Given the description of an element on the screen output the (x, y) to click on. 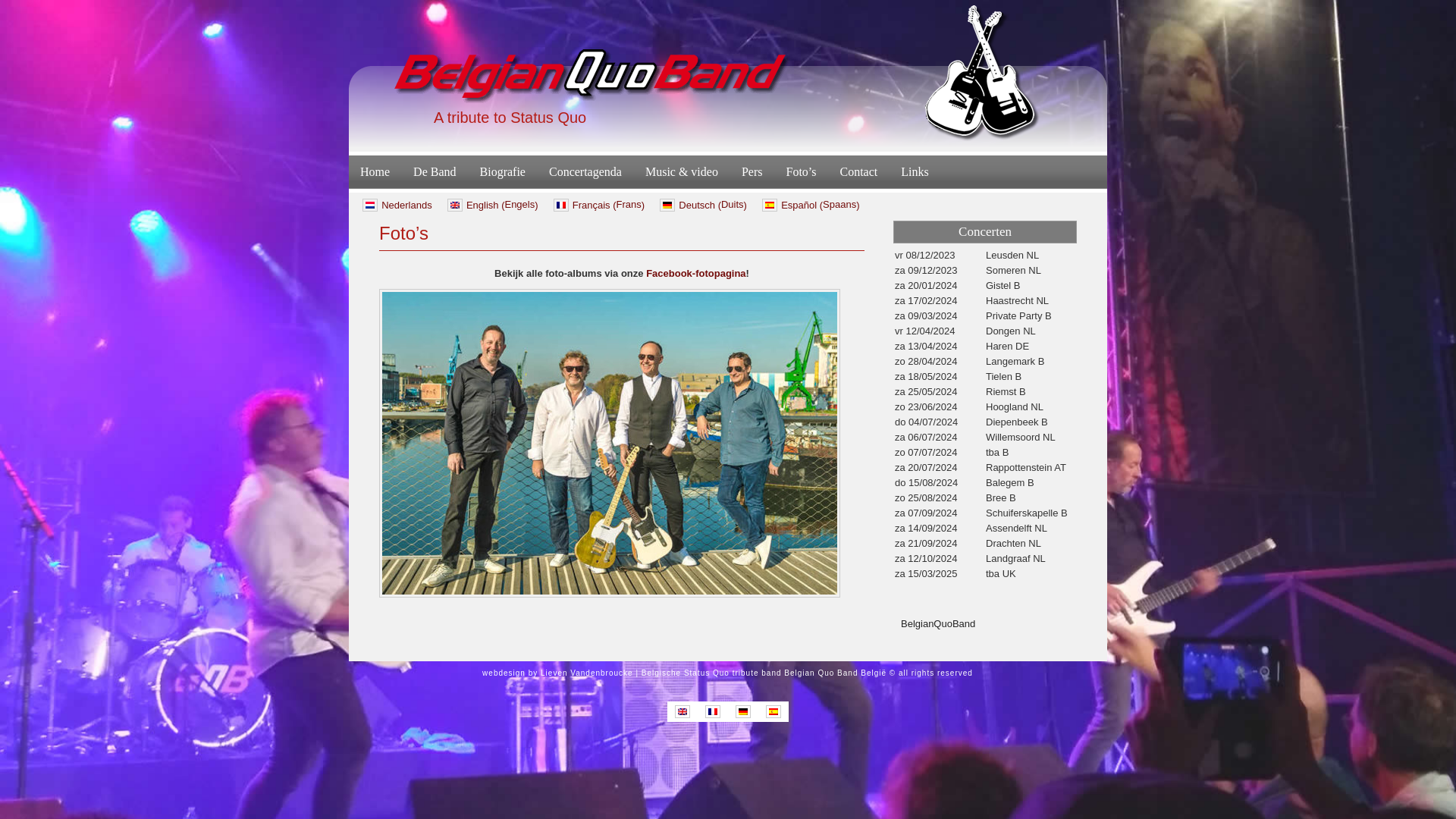
Nederlands Element type: text (396, 204)
Home Element type: text (374, 171)
Concertagenda Element type: text (585, 171)
English (Engels) Element type: text (492, 204)
Pers Element type: text (752, 171)
Deutsch (Duits) Element type: text (703, 204)
Facebook-fotopagina Element type: text (695, 273)
Biografie Element type: text (502, 171)
Links Element type: text (914, 171)
Contact Element type: text (858, 171)
De Band Element type: text (434, 171)
BelgianQuoBand Element type: text (937, 623)
Music & video Element type: text (681, 171)
